Given the description of an element on the screen output the (x, y) to click on. 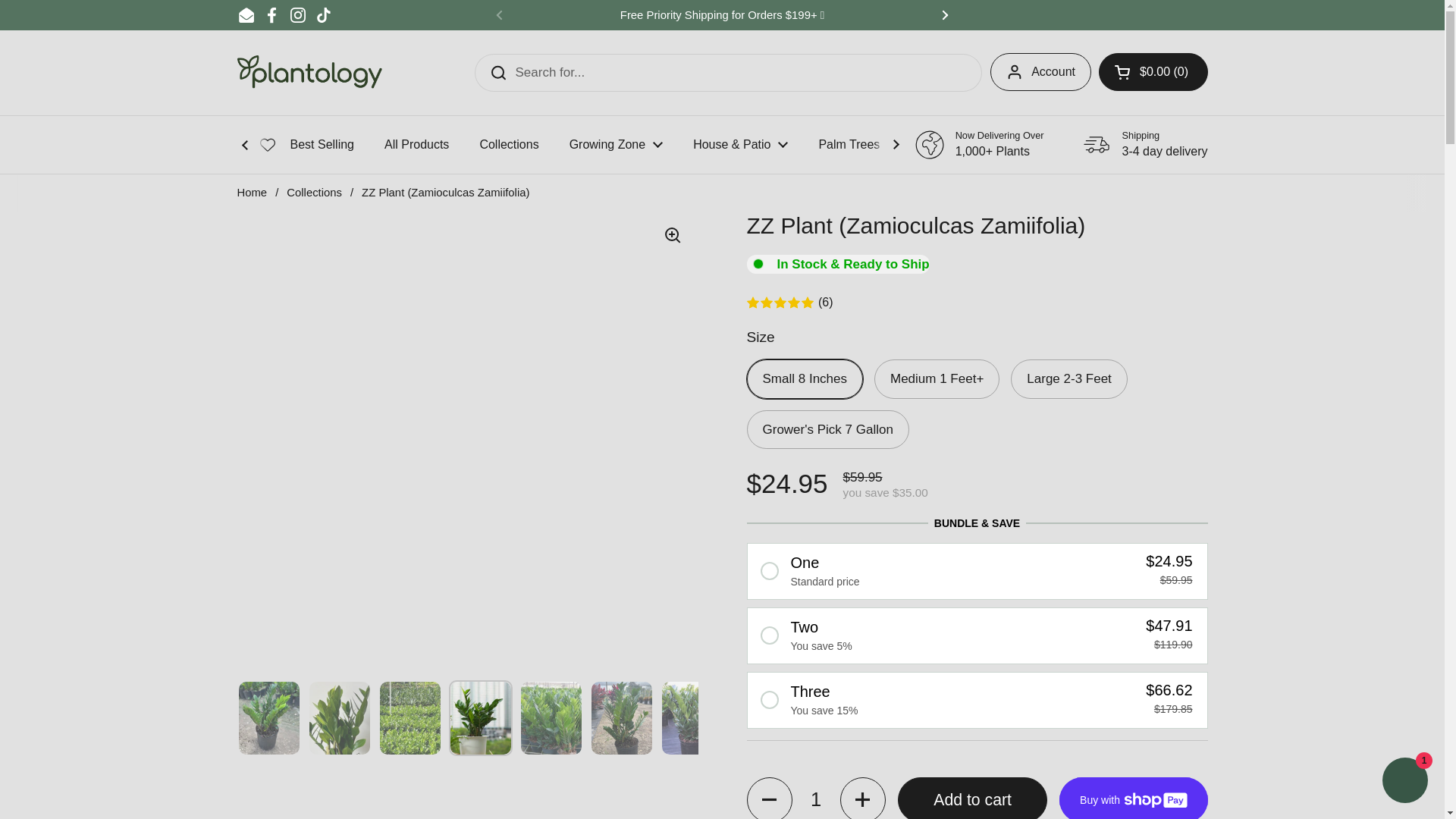
Open cart (1153, 71)
Email (244, 14)
Facebook (271, 14)
1 (815, 798)
All Products (416, 144)
Best Selling (322, 144)
Plantology USA (308, 72)
Collections (508, 144)
Account (1040, 71)
Instagram (296, 14)
TikTok (322, 14)
Growing Zone (616, 144)
